Given the description of an element on the screen output the (x, y) to click on. 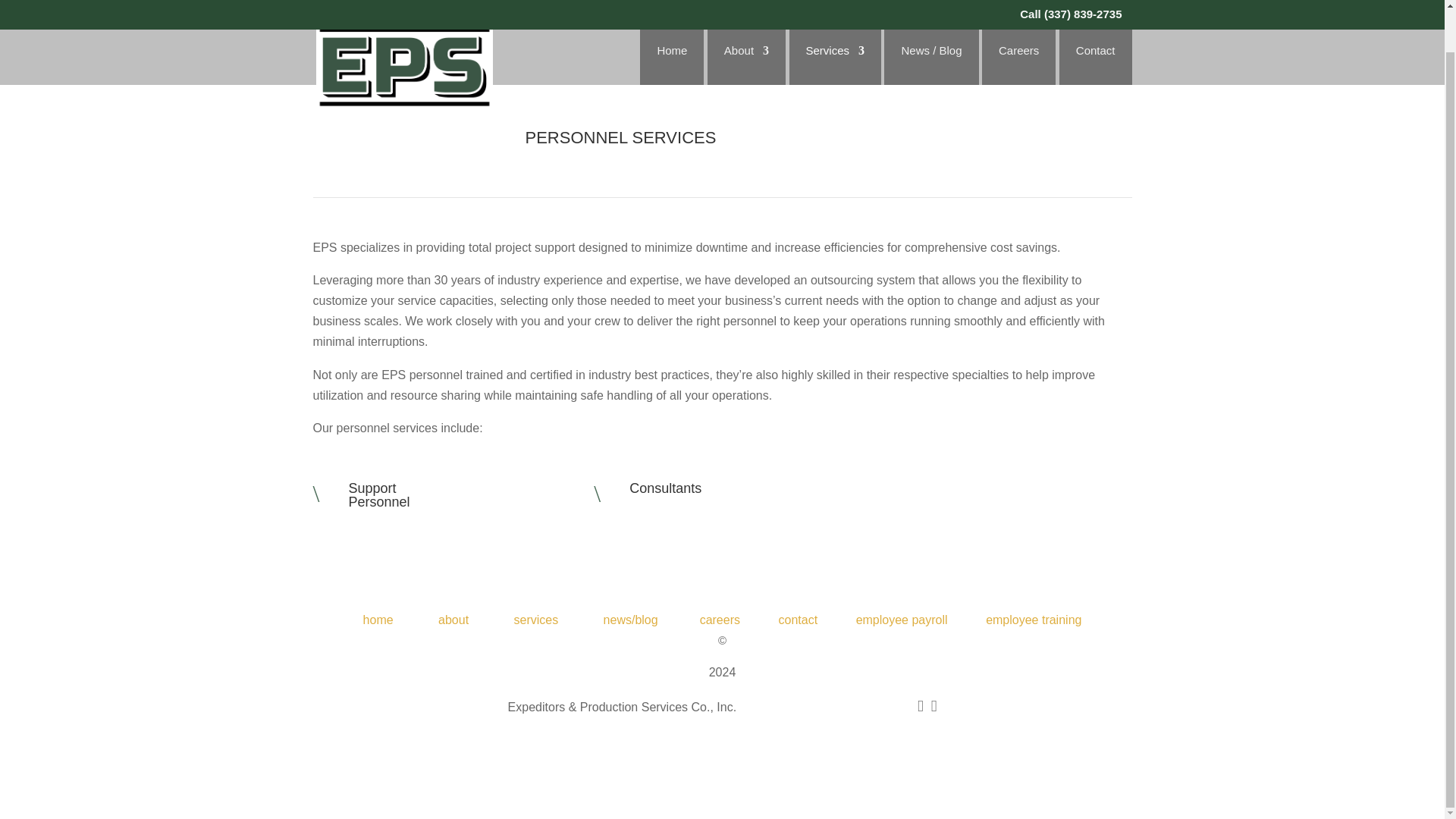
About (745, 20)
about (453, 619)
home (377, 619)
Comit Developers - Web Design Lafayette Louisiana (721, 739)
Contact (1095, 20)
careers (719, 619)
Comit Developers (807, 738)
employee training (1033, 619)
contact (798, 619)
